Given the description of an element on the screen output the (x, y) to click on. 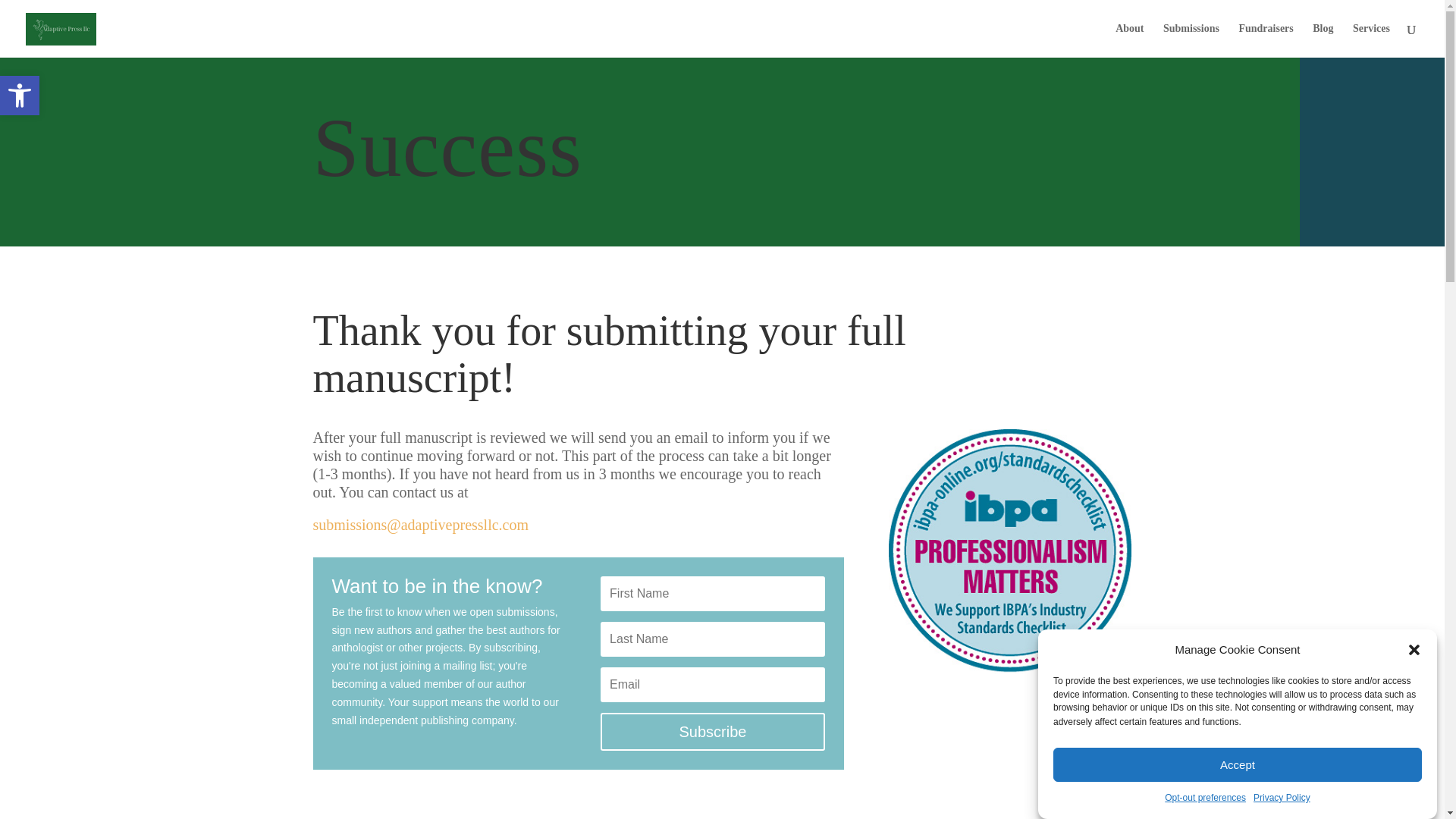
Submissions (1191, 40)
Opt-out preferences (1205, 816)
Accessibility Tools (19, 95)
Accessibility Tools (19, 95)
Subscribe (711, 731)
Privacy Policy (1281, 813)
Fundraisers (19, 95)
Services (1265, 40)
